Given the description of an element on the screen output the (x, y) to click on. 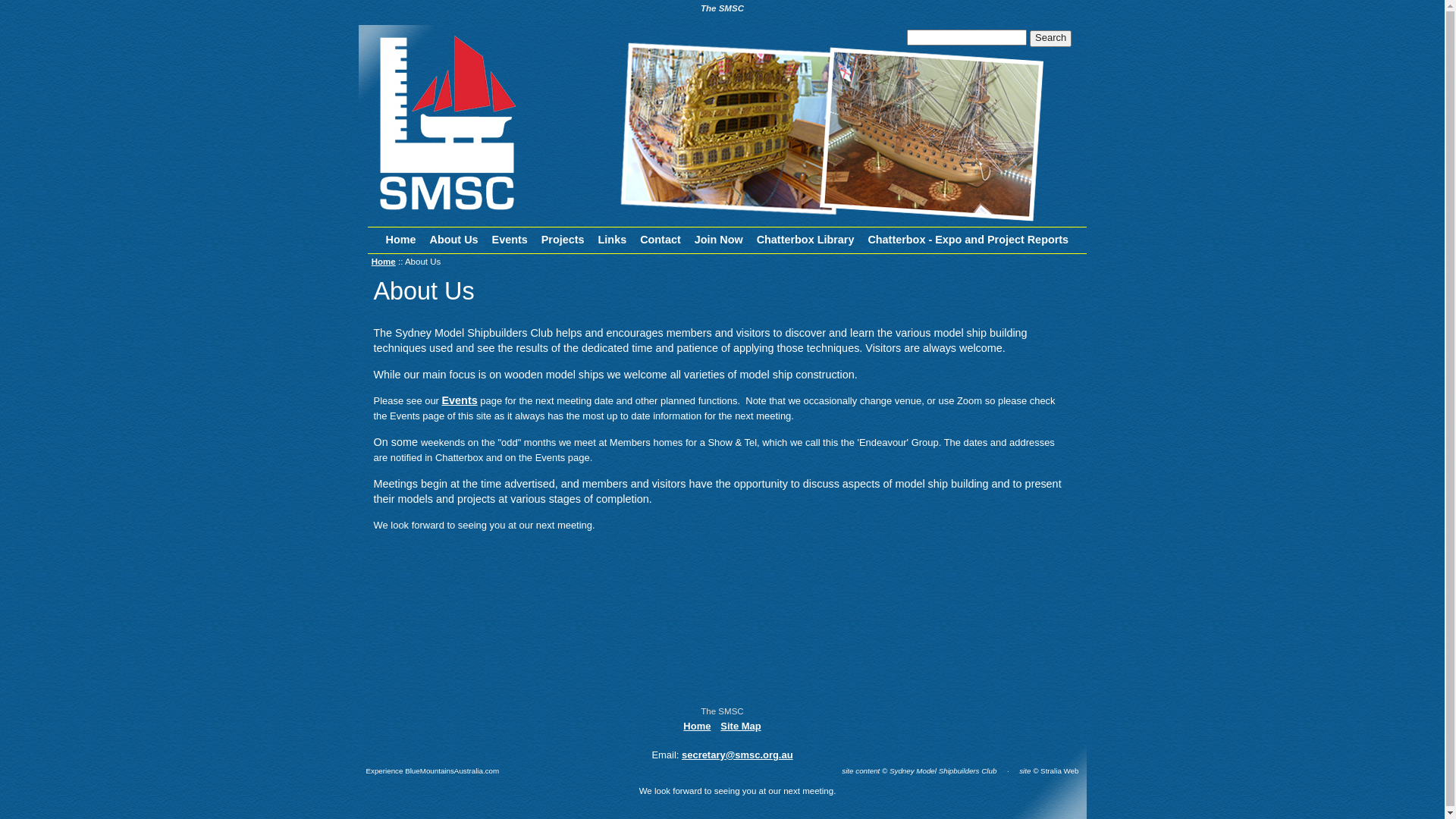
Contact Element type: text (660, 239)
Events Element type: text (459, 400)
secretary@smsc.org.au Element type: text (737, 754)
Search Element type: text (1050, 38)
Join Now Element type: text (718, 239)
Chatterbox Library Element type: text (805, 239)
Site Map Element type: text (740, 725)
Stralia Web Element type: text (1059, 770)
Events Element type: text (509, 239)
Links Element type: text (612, 239)
Home Element type: text (696, 725)
Chatterbox - Expo and Project Reports Element type: text (967, 239)
Experience BlueMountainsAustralia.com Element type: text (431, 770)
About Us Element type: text (454, 239)
Projects Element type: text (562, 239)
Home Element type: text (401, 239)
Home Element type: text (383, 261)
